Given the description of an element on the screen output the (x, y) to click on. 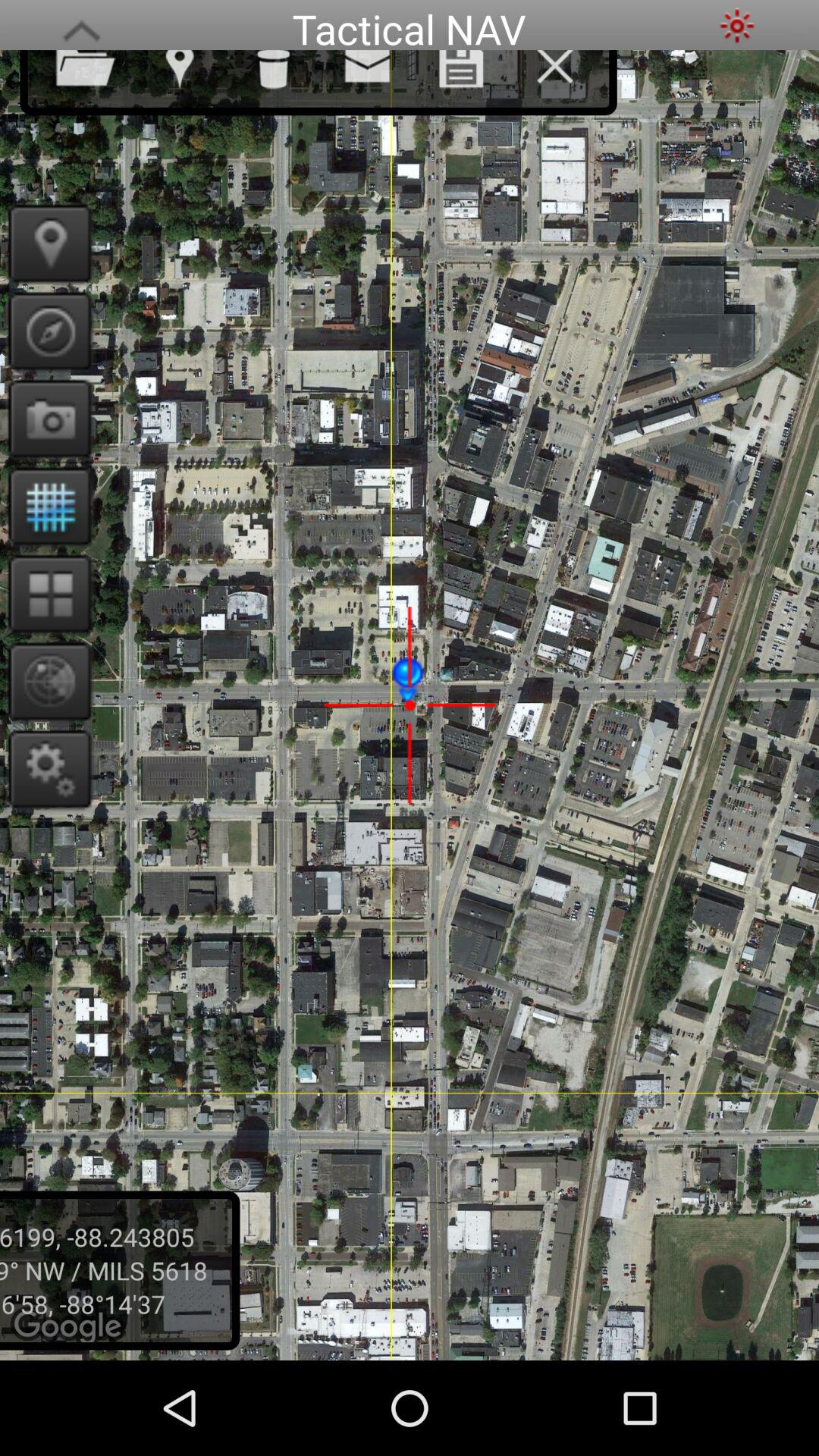
zoom in on location (45, 681)
